Given the description of an element on the screen output the (x, y) to click on. 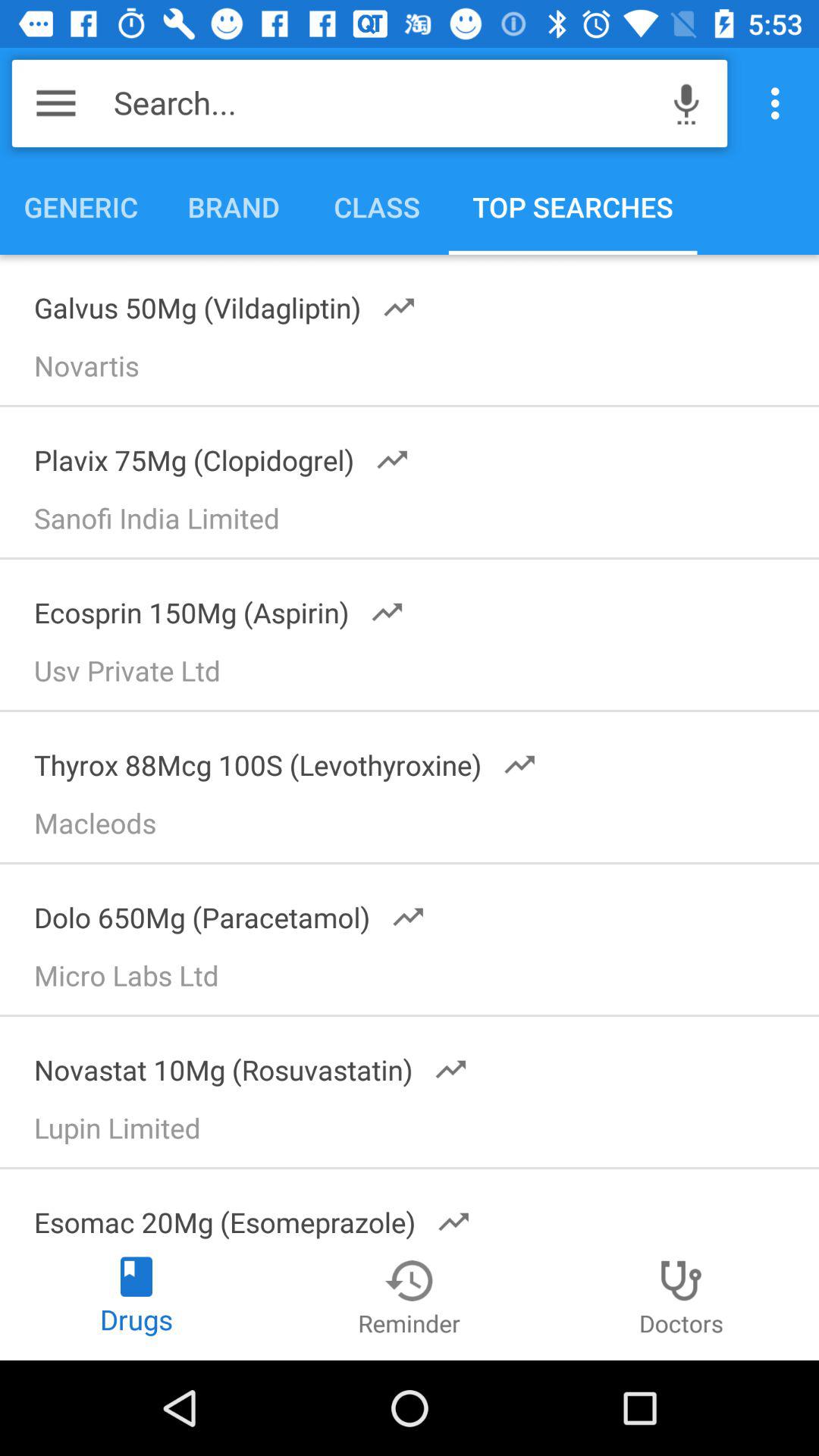
choose the item below the novastat 10mg (rosuvastatin) item (416, 1132)
